Given the description of an element on the screen output the (x, y) to click on. 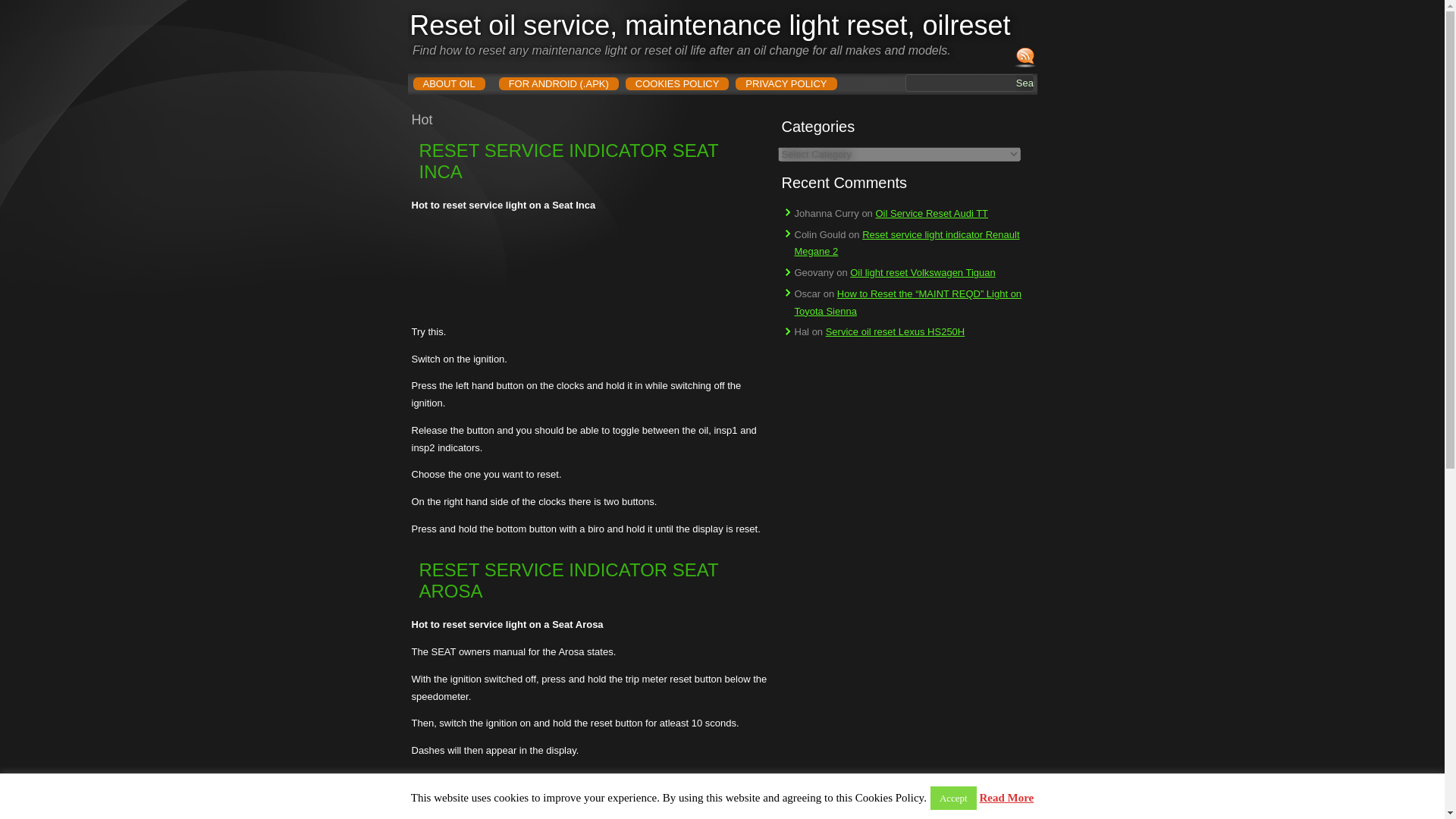
ABOUT OIL (448, 83)
Search (1024, 82)
Privacy Policy (785, 83)
Reset service light indicator Renault Megane 2 (907, 243)
COOKIES POLICY (677, 83)
Cookies Policy (677, 83)
Search (1024, 82)
Reset oil service, maintenance light reset, oilreset (709, 24)
RESET SERVICE INDICATOR SEAT AROSA (568, 580)
Search (1024, 82)
PRIVACY POLICY (785, 83)
RESET SERVICE INDICATOR SEAT INCA (568, 161)
Read More (1005, 797)
Oil light reset Volkswagen Tiguan (922, 272)
Service oil reset Lexus HS250H (895, 331)
